Given the description of an element on the screen output the (x, y) to click on. 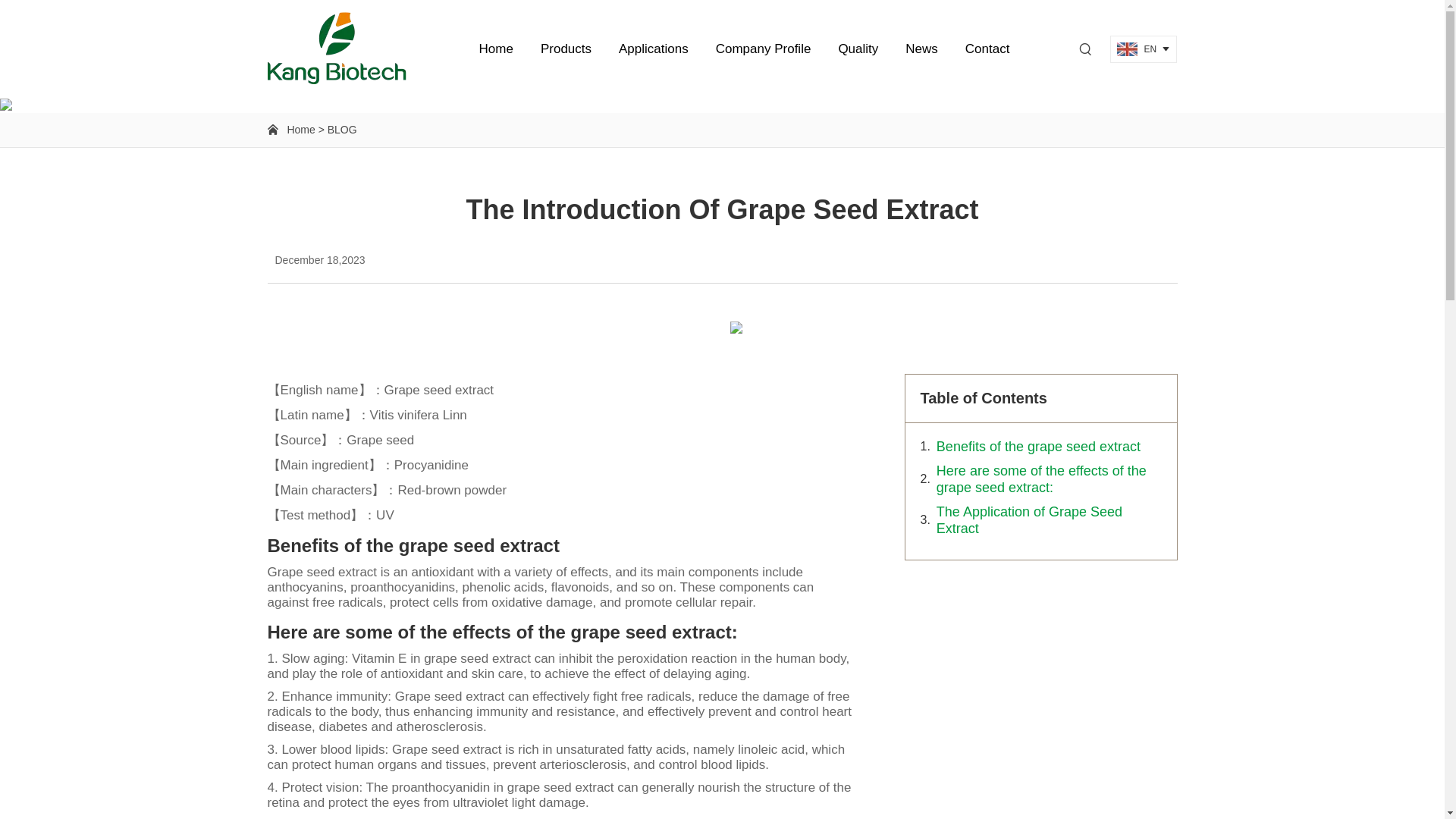
Quality (857, 48)
Company Profile (763, 48)
Products (566, 48)
Home (496, 48)
Applications (653, 48)
